Given the description of an element on the screen output the (x, y) to click on. 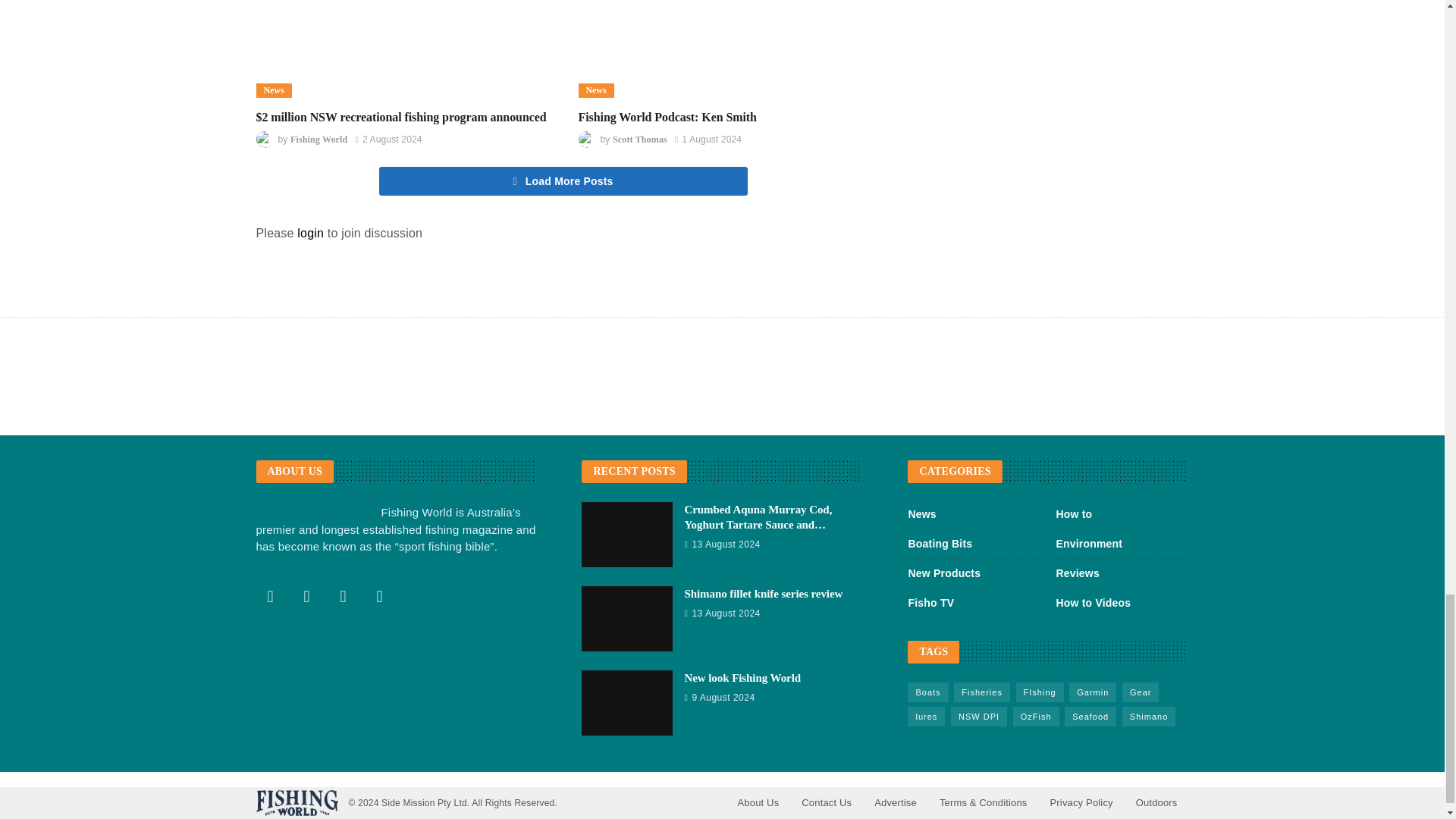
Shimano fillet knife series review (626, 618)
Load More Posts (563, 181)
Fishing World Podcast: Ken Smith (666, 116)
Fishing World Podcast: Ken Smith (723, 48)
Shimano fillet knife series review (763, 593)
